Given the description of an element on the screen output the (x, y) to click on. 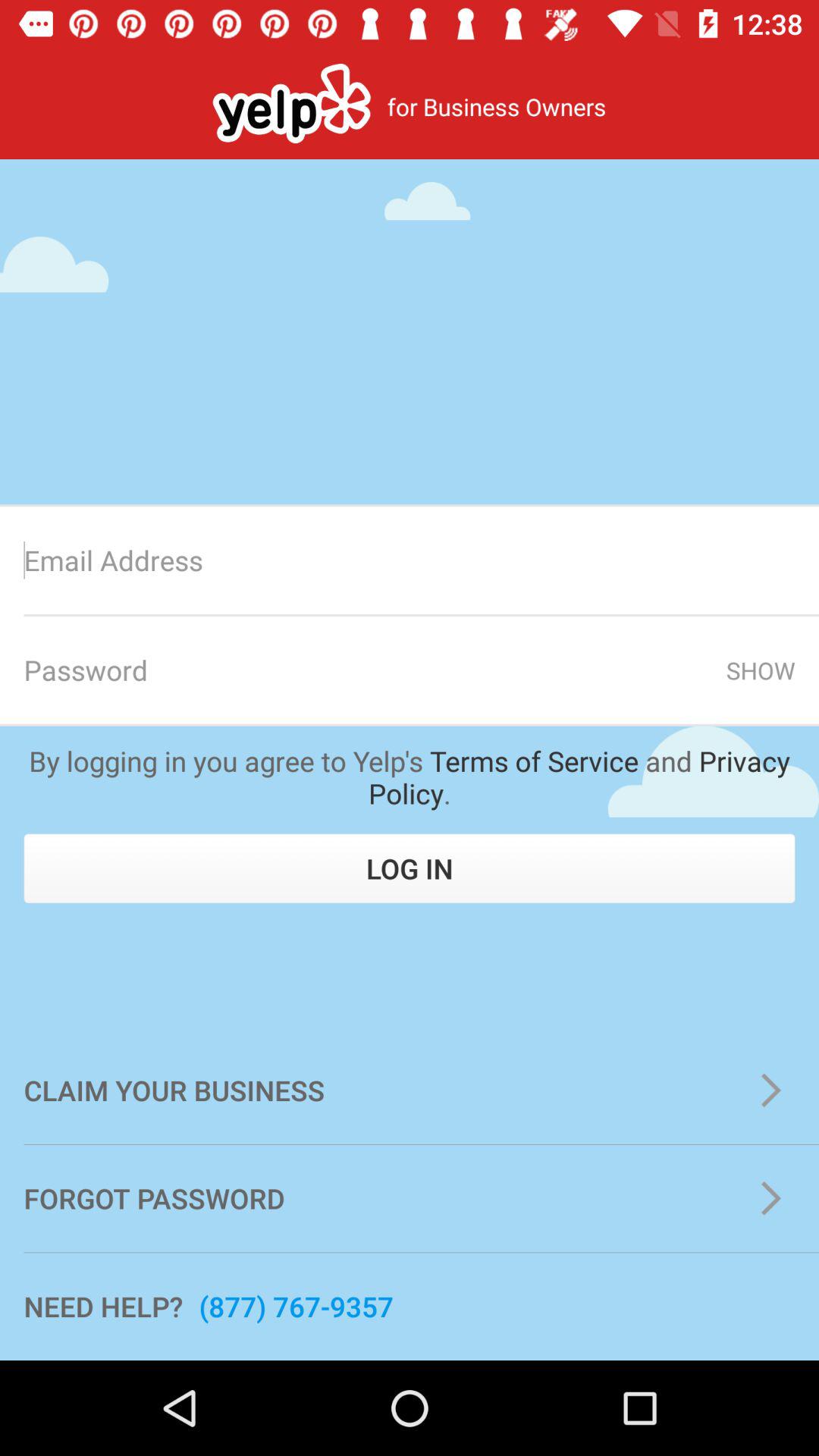
choose the log in (409, 868)
